Given the description of an element on the screen output the (x, y) to click on. 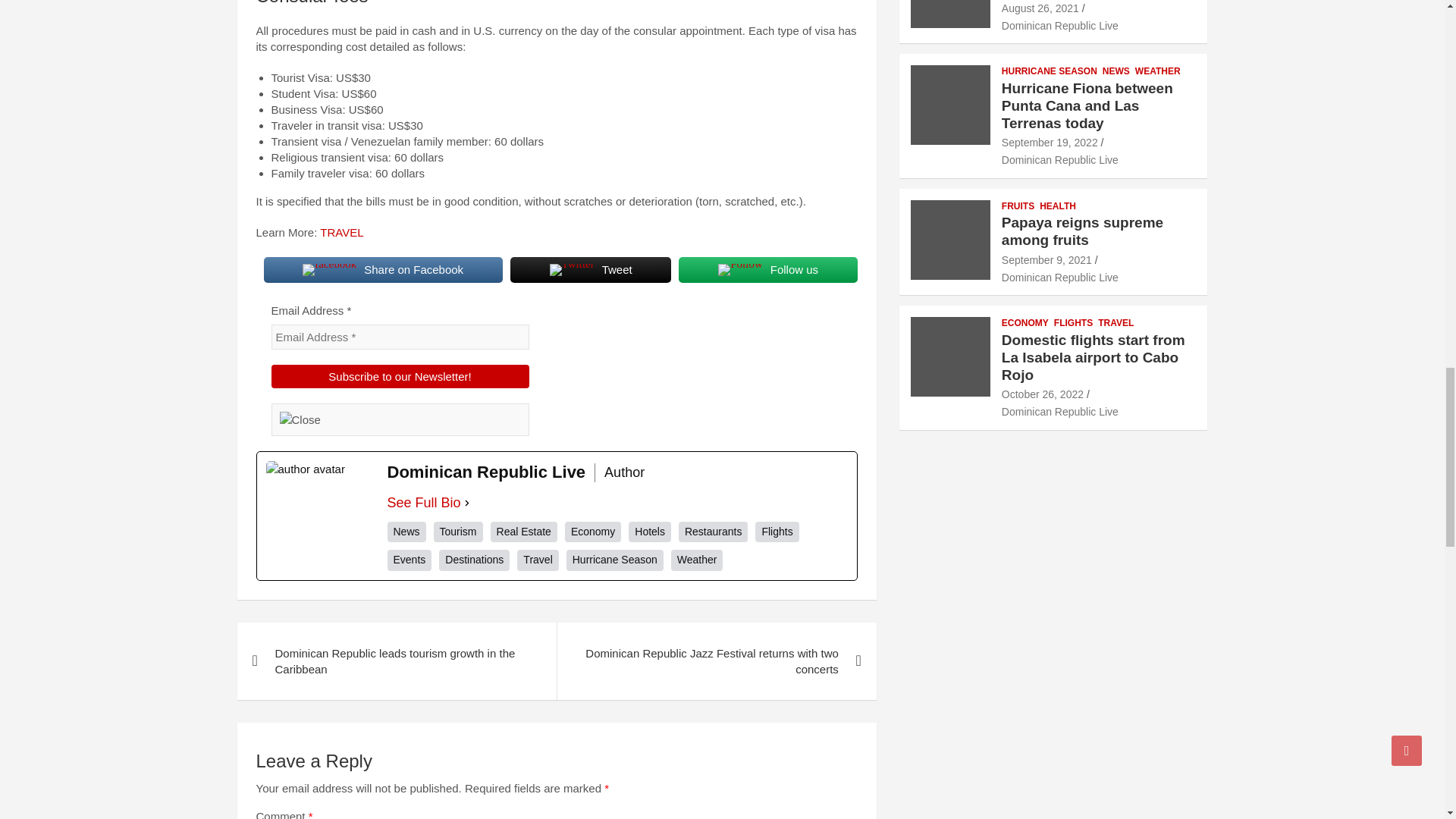
Hurricane Fiona between Punta Cana and Las Terrenas today (1049, 142)
TRAVEL (341, 232)
Email Address (399, 336)
Domestic flights start from La Isabela airport to Cabo Rojo (1042, 394)
Papaya reigns supreme among fruits (1046, 259)
Dominican Republic leads tourism growth in the Caribbean (395, 661)
Subscribe to our Newsletter! (399, 376)
Subscribe to our Newsletter! (399, 376)
Sky Cana to link New York with AILA and Cibao (1039, 8)
Dominican Republic Jazz Festival returns with two concerts (716, 661)
